Given the description of an element on the screen output the (x, y) to click on. 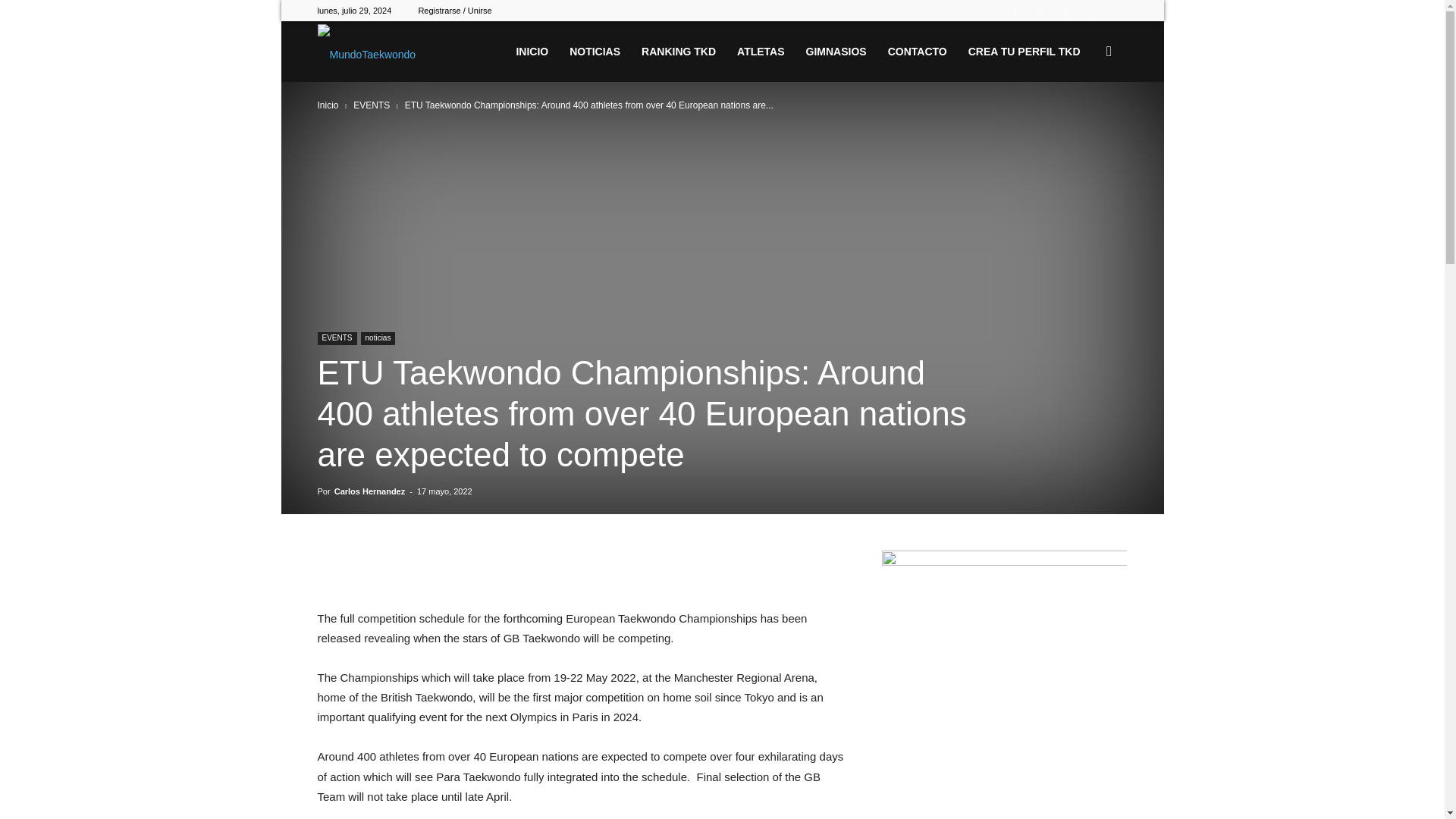
VKontakte (1090, 10)
NOTICIAS (594, 51)
Facebook (989, 10)
Mundo Taekwondo (365, 51)
Youtube (1114, 10)
Buscar (1085, 124)
Instagram (1015, 10)
Twitter (1040, 10)
Vimeo (1065, 10)
RANKING TKD (678, 51)
MundoTaekwondo (365, 52)
ATLETAS (760, 51)
